Given the description of an element on the screen output the (x, y) to click on. 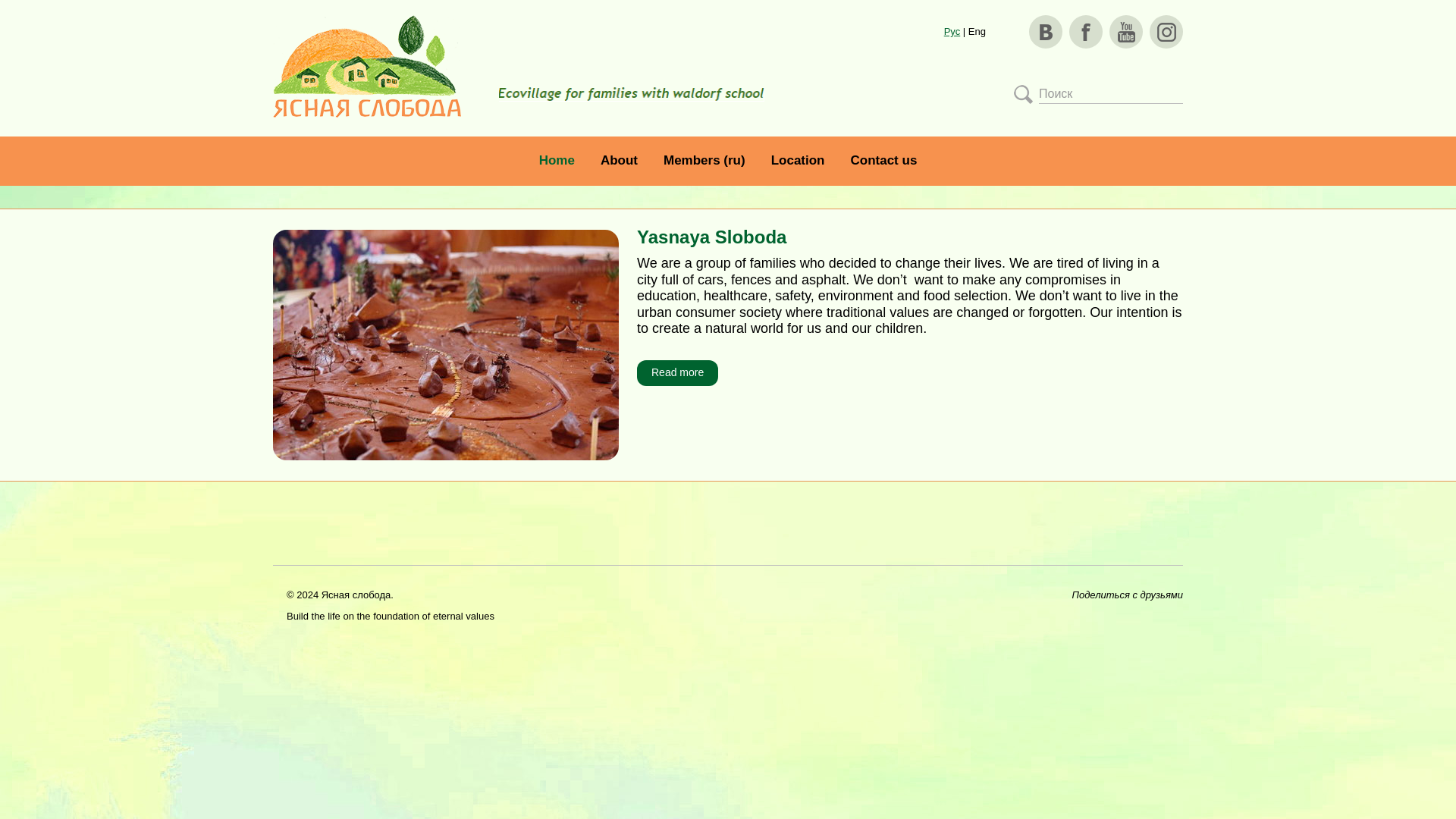
About (619, 160)
Contact us (883, 160)
Read more (677, 372)
Home (556, 160)
Location (798, 160)
